Given the description of an element on the screen output the (x, y) to click on. 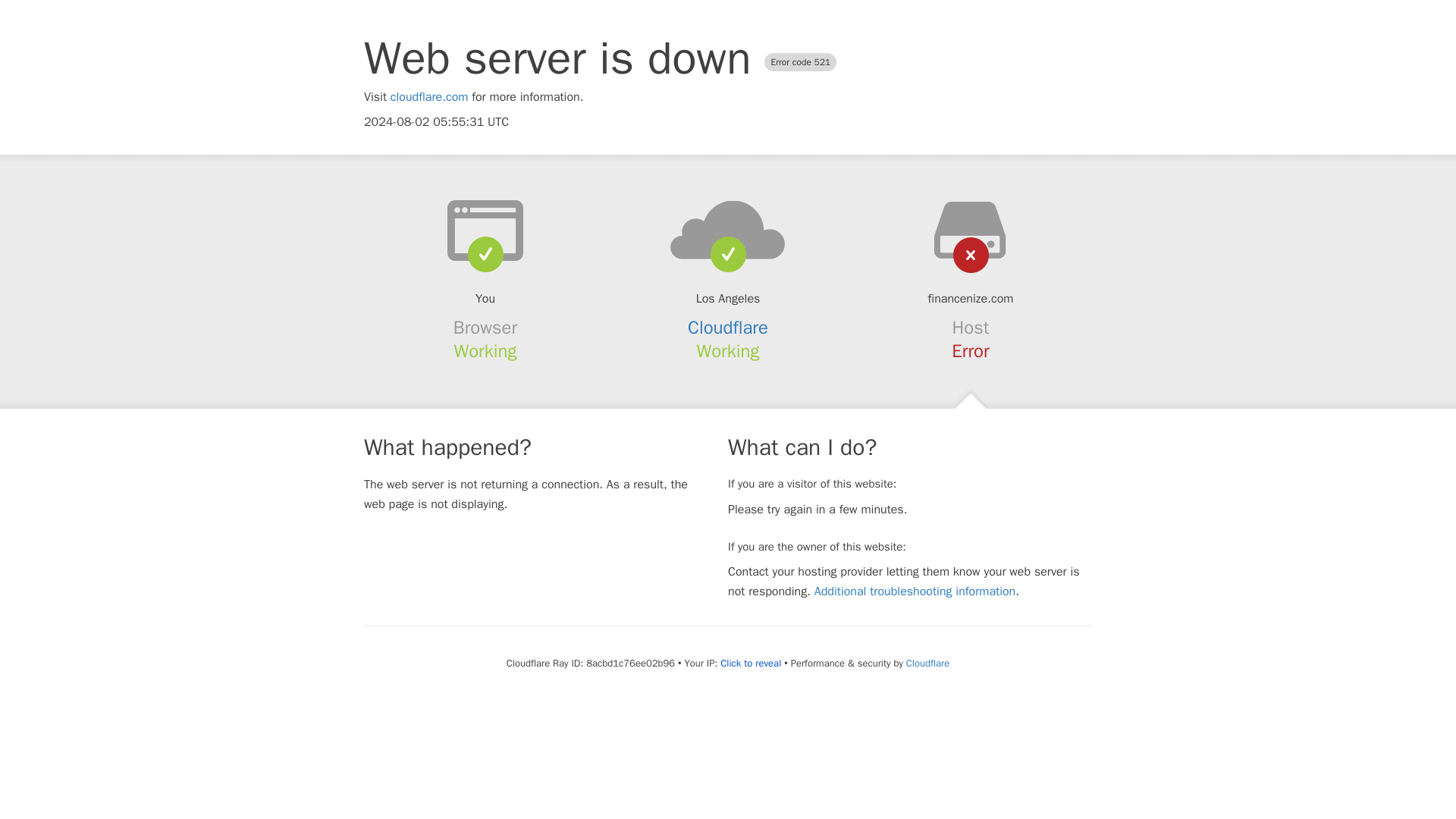
Click to reveal (750, 663)
Additional troubleshooting information (913, 590)
Cloudflare (927, 662)
Cloudflare (727, 327)
cloudflare.com (429, 96)
